Given the description of an element on the screen output the (x, y) to click on. 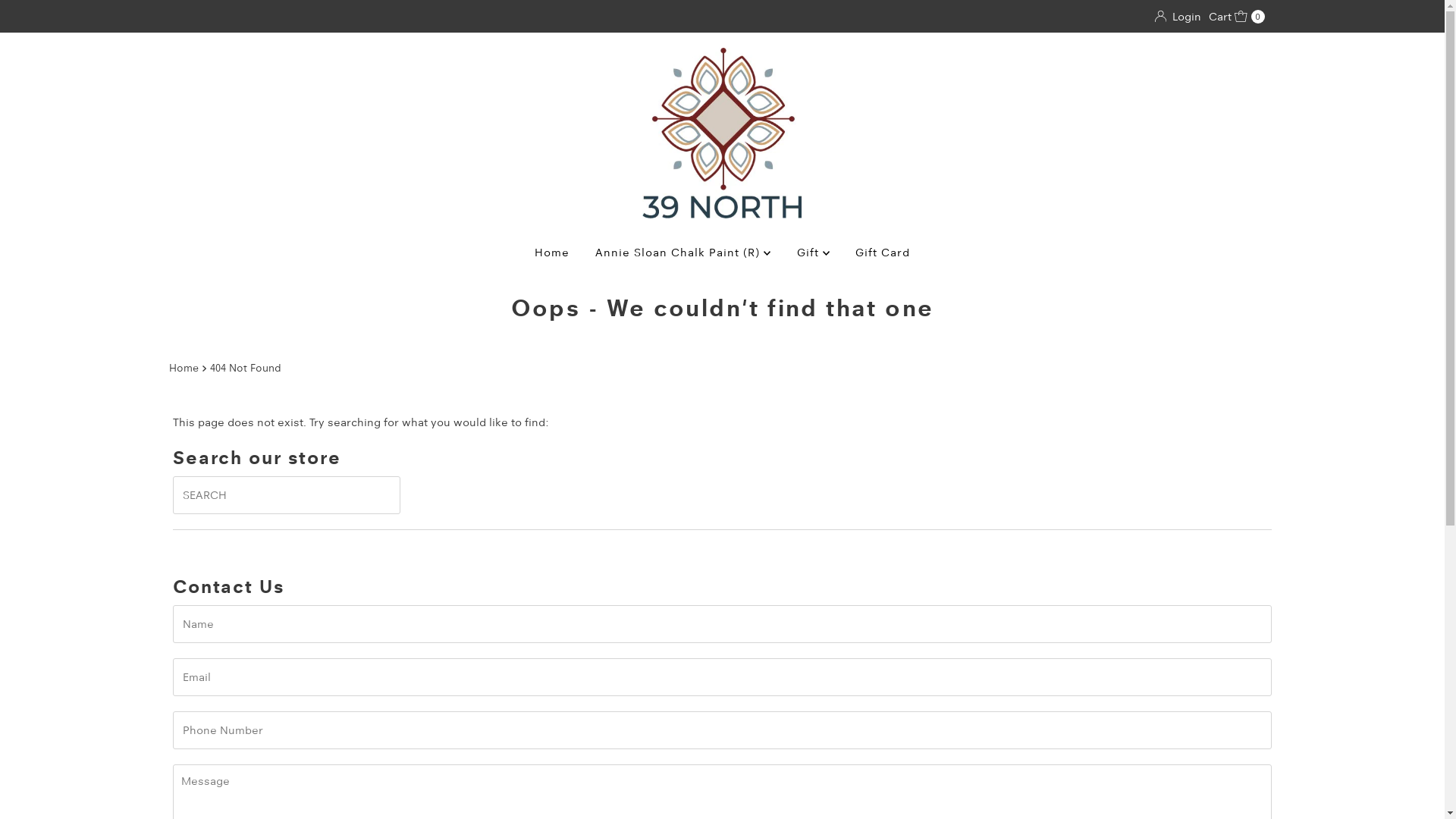
Home Element type: text (184, 367)
Cart 
0 Element type: text (1236, 16)
Home Element type: text (551, 252)
Search our store Element type: hover (286, 495)
  Login Element type: text (1177, 16)
Gift Card Element type: text (882, 252)
